Given the description of an element on the screen output the (x, y) to click on. 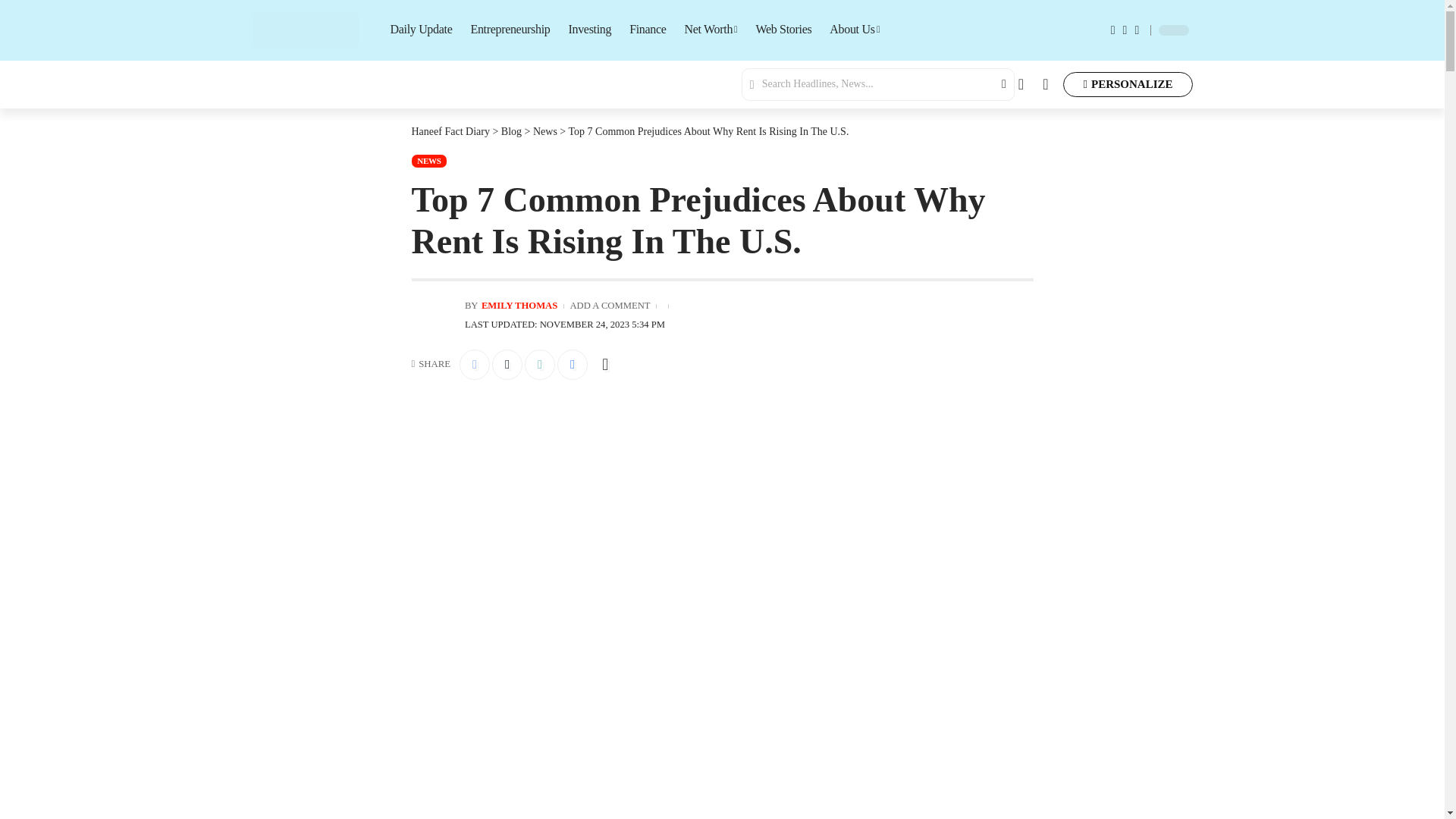
Go to the News Category archives. (544, 131)
Web Stories (783, 30)
Haneef Fact Diary (449, 131)
Entrepreneurship (510, 30)
Go to Haneef Fact Diary. (449, 131)
Go to Blog. (510, 131)
Net Worth (710, 30)
Investing (589, 30)
About Us (854, 30)
Blog (510, 131)
